Given the description of an element on the screen output the (x, y) to click on. 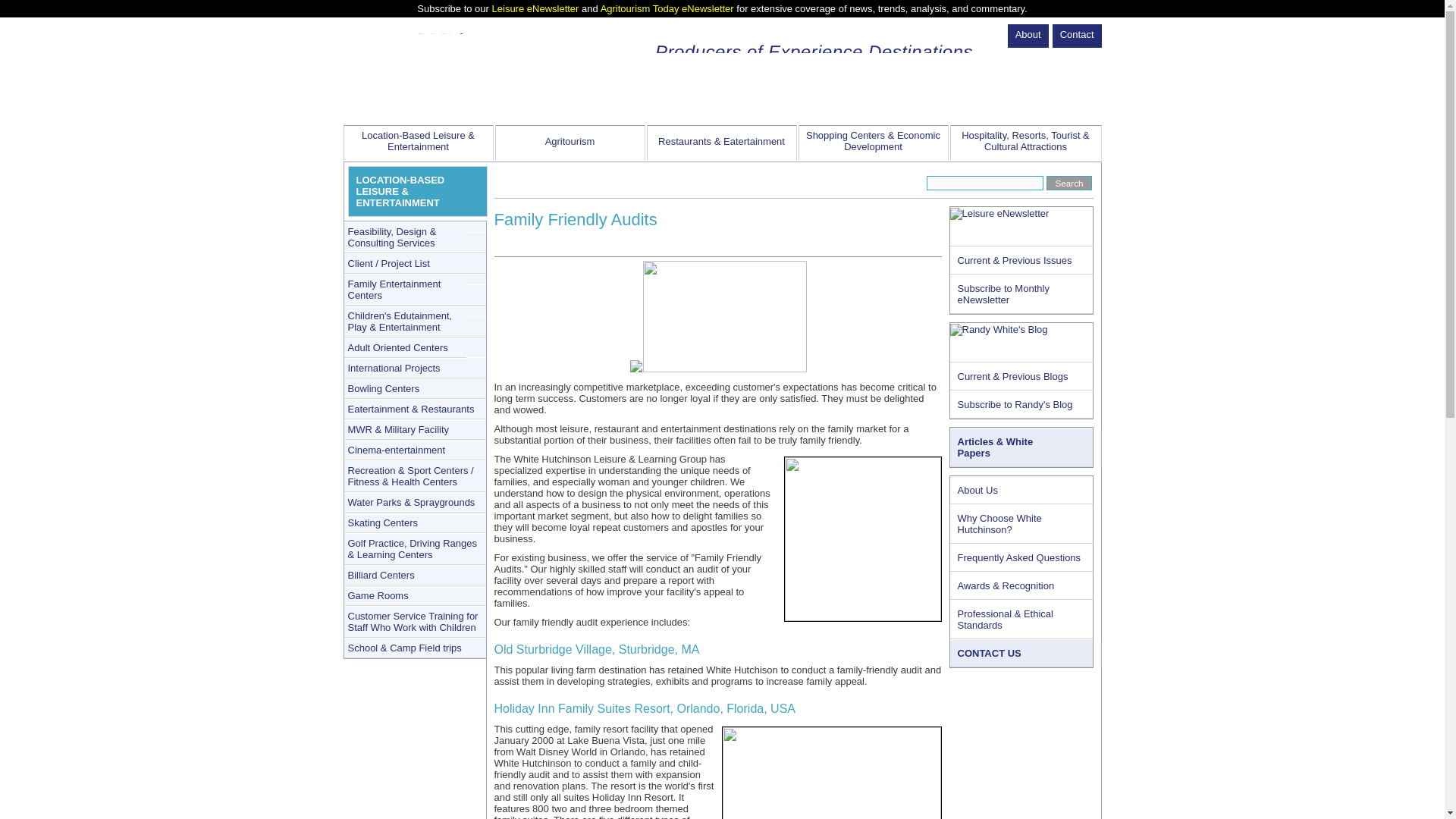
Contact (1077, 35)
Why Choose White Hutchinson? (1020, 523)
About Us (1020, 489)
Frequently Asked Questions (1020, 557)
Agritourism (570, 142)
Agritourism Today eNewsletter (666, 8)
Subscribe to Monthly eNewsletter (1020, 293)
Search (1068, 183)
CONTACT US (1020, 653)
Leisure eNewsletter (535, 8)
